Given the description of an element on the screen output the (x, y) to click on. 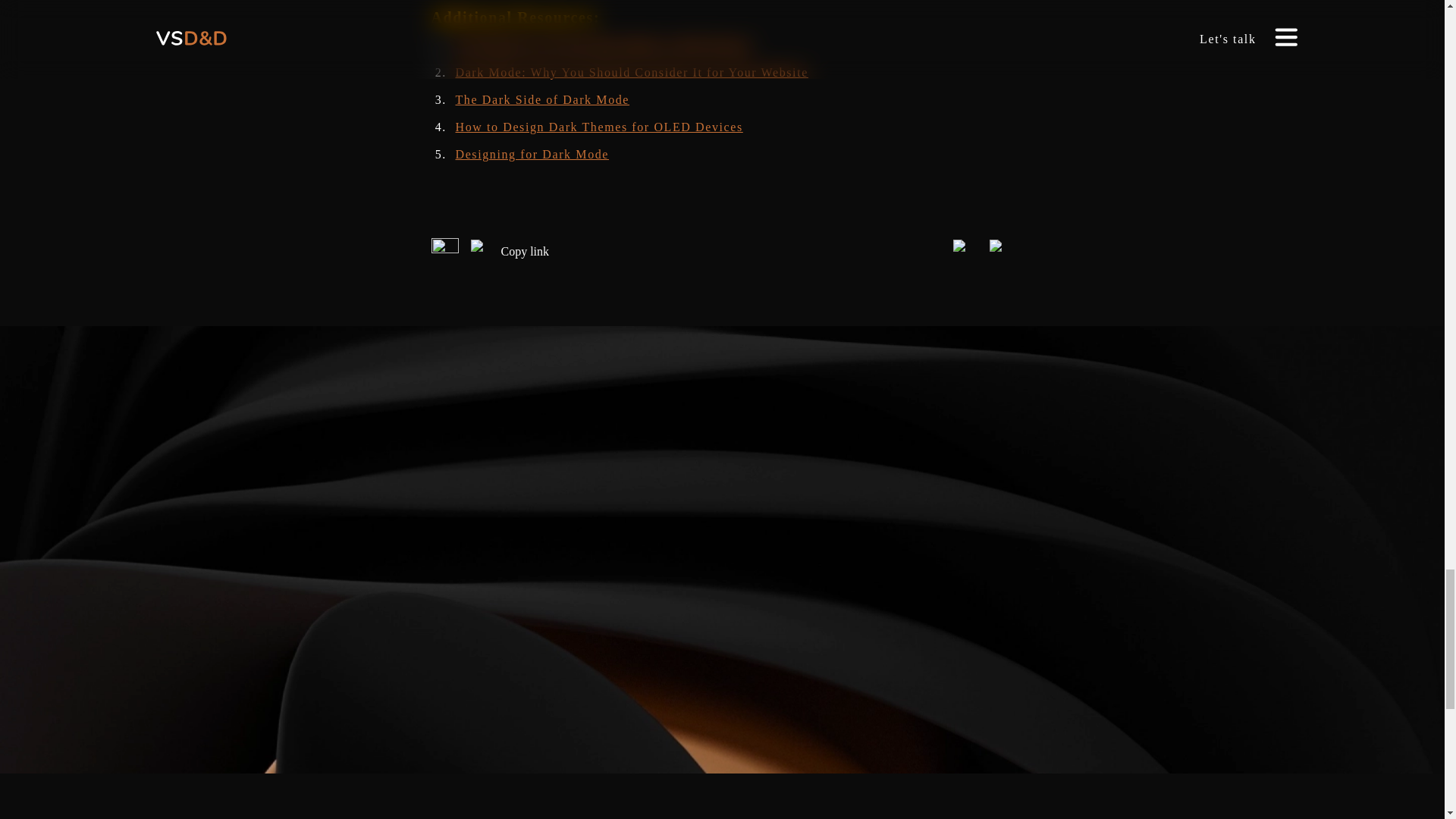
Designing for Dark Mode (531, 154)
The Dark Side of Dark Mode (541, 99)
How to Design Dark Themes for OLED Devices (598, 126)
The Benefits of Using Dark Mode in Web Design (601, 44)
Copy link (509, 251)
Dark Mode: Why You Should Consider It for Your Website (631, 72)
